Given the description of an element on the screen output the (x, y) to click on. 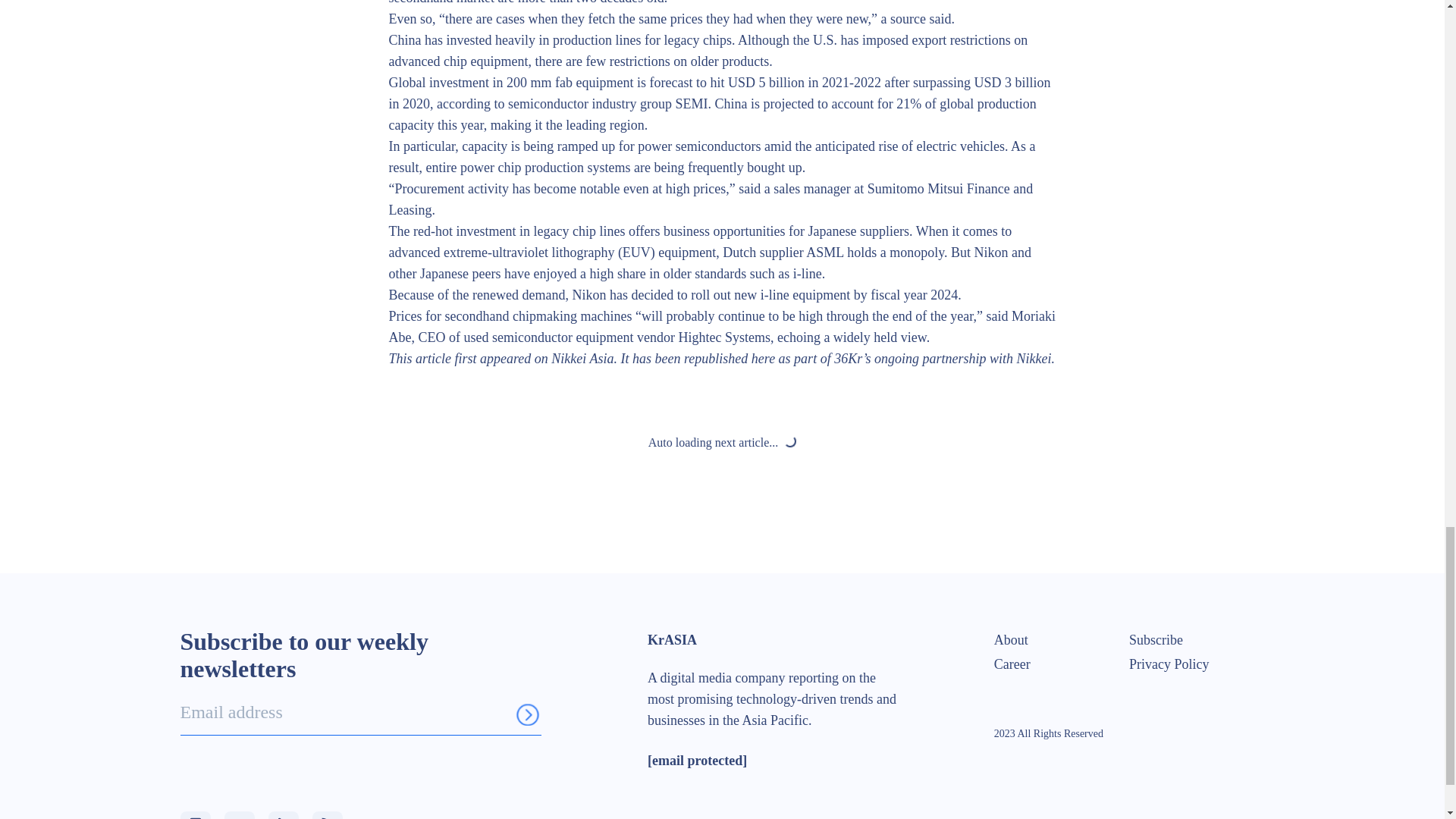
partnership with Nikkei (986, 358)
Nikkei Asia (581, 358)
